Given the description of an element on the screen output the (x, y) to click on. 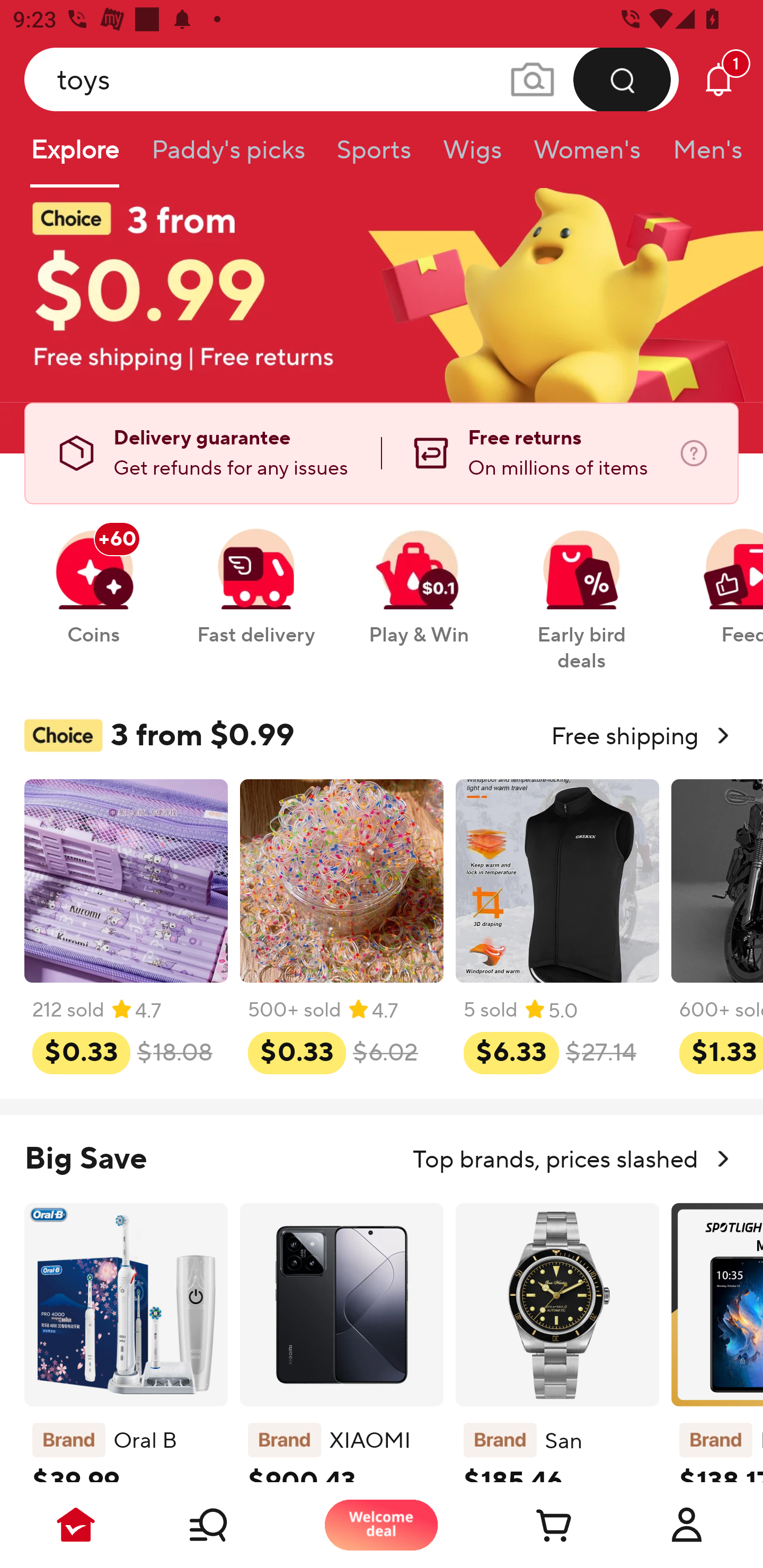
toys (351, 79)
Paddy's picks (227, 155)
Sports (373, 155)
Wigs (472, 155)
Women's (586, 155)
Men's (701, 155)
Coinsbutton +60 Coins (93, 576)
Fast deliverybutton Fast delivery (255, 576)
Play & Winbutton Play & Win (418, 576)
Early bird dealsbutton Early bird deals (581, 589)
Feedbutton Feed (719, 576)
Shop (228, 1524)
Cart (533, 1524)
Account (686, 1524)
